Given the description of an element on the screen output the (x, y) to click on. 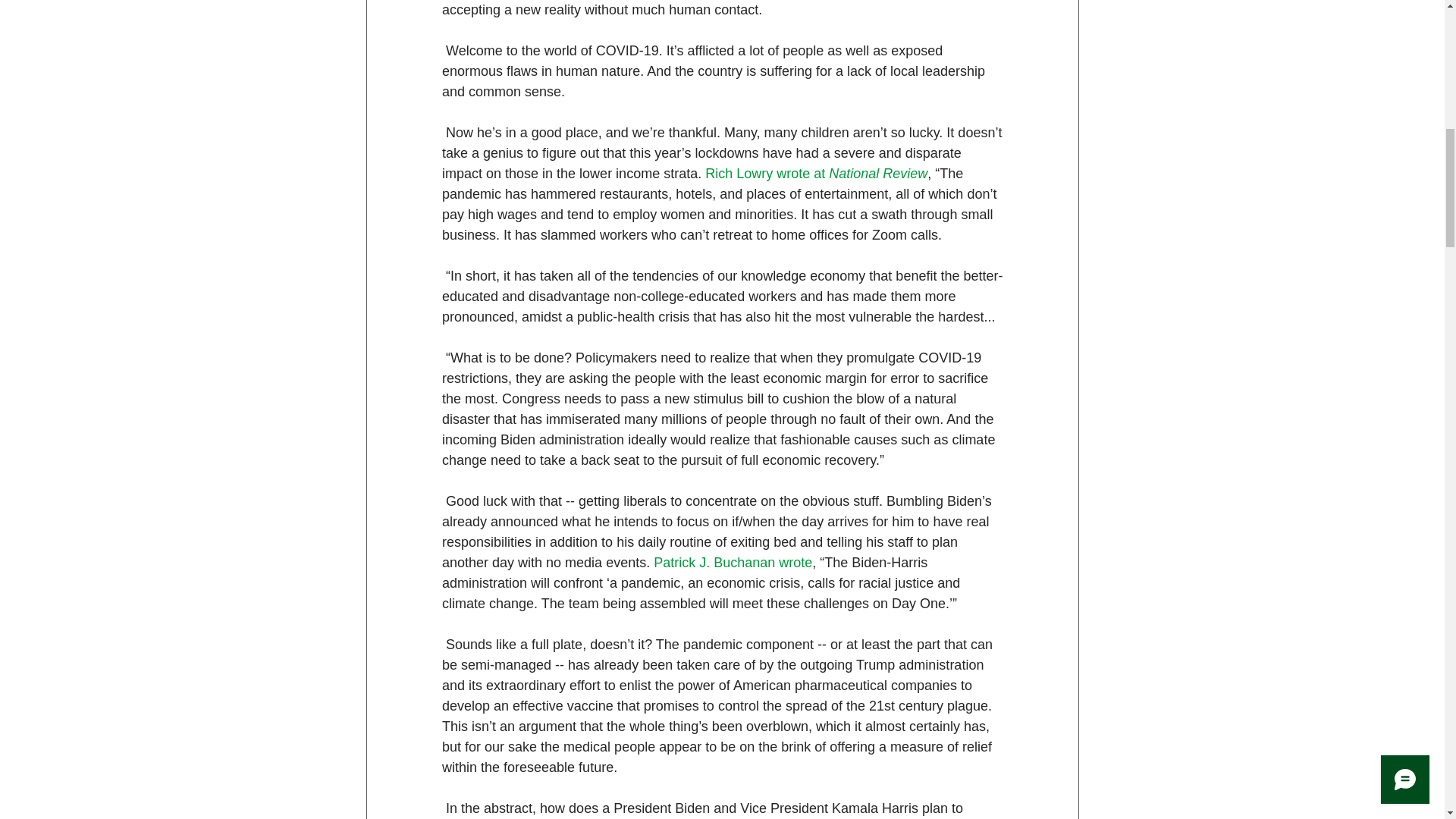
National Review (877, 173)
Patrick J. Buchanan wrote (732, 562)
Rich Lowry wrote at  (766, 173)
